Given the description of an element on the screen output the (x, y) to click on. 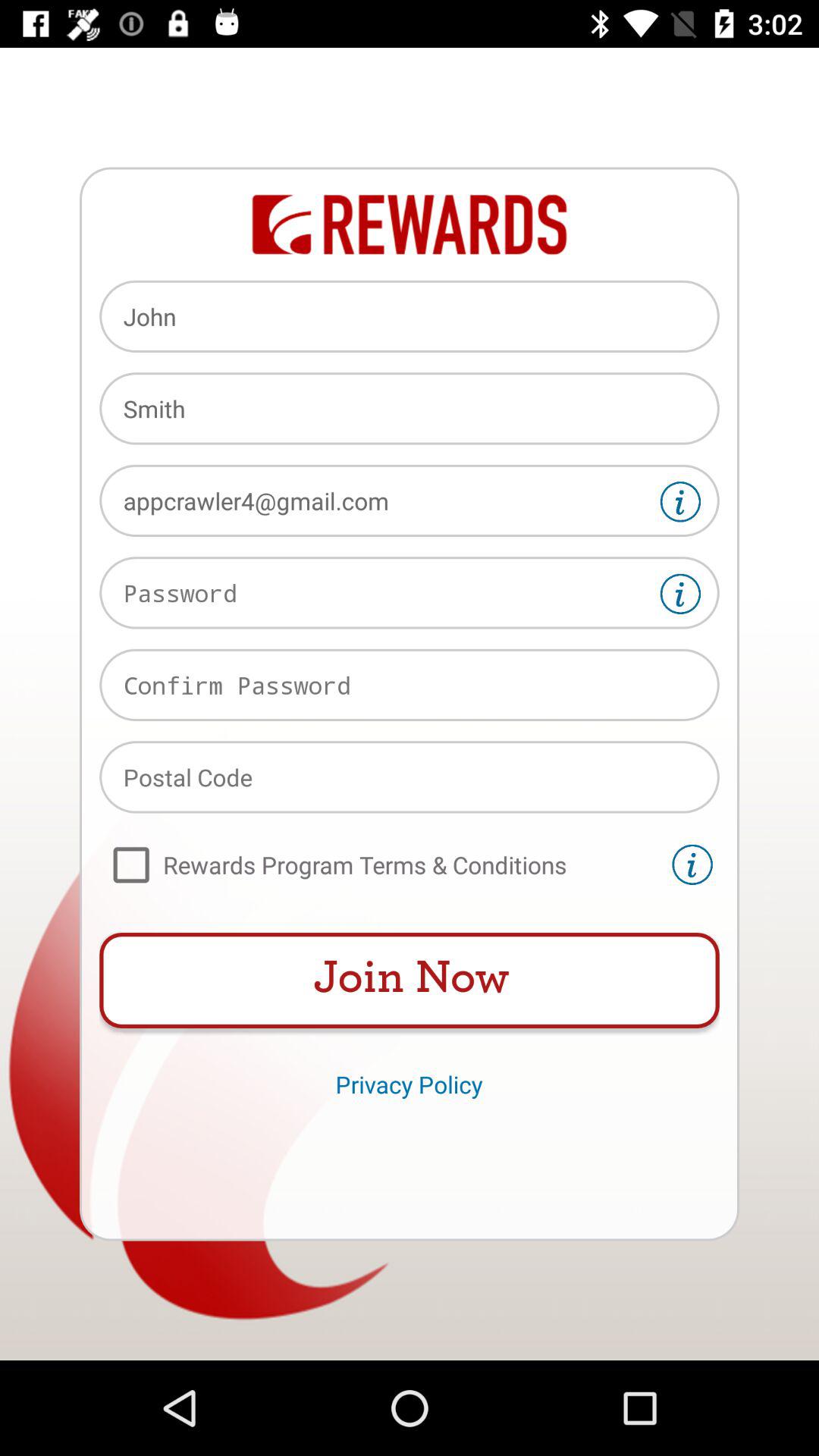
choose icon below smith icon (409, 500)
